Given the description of an element on the screen output the (x, y) to click on. 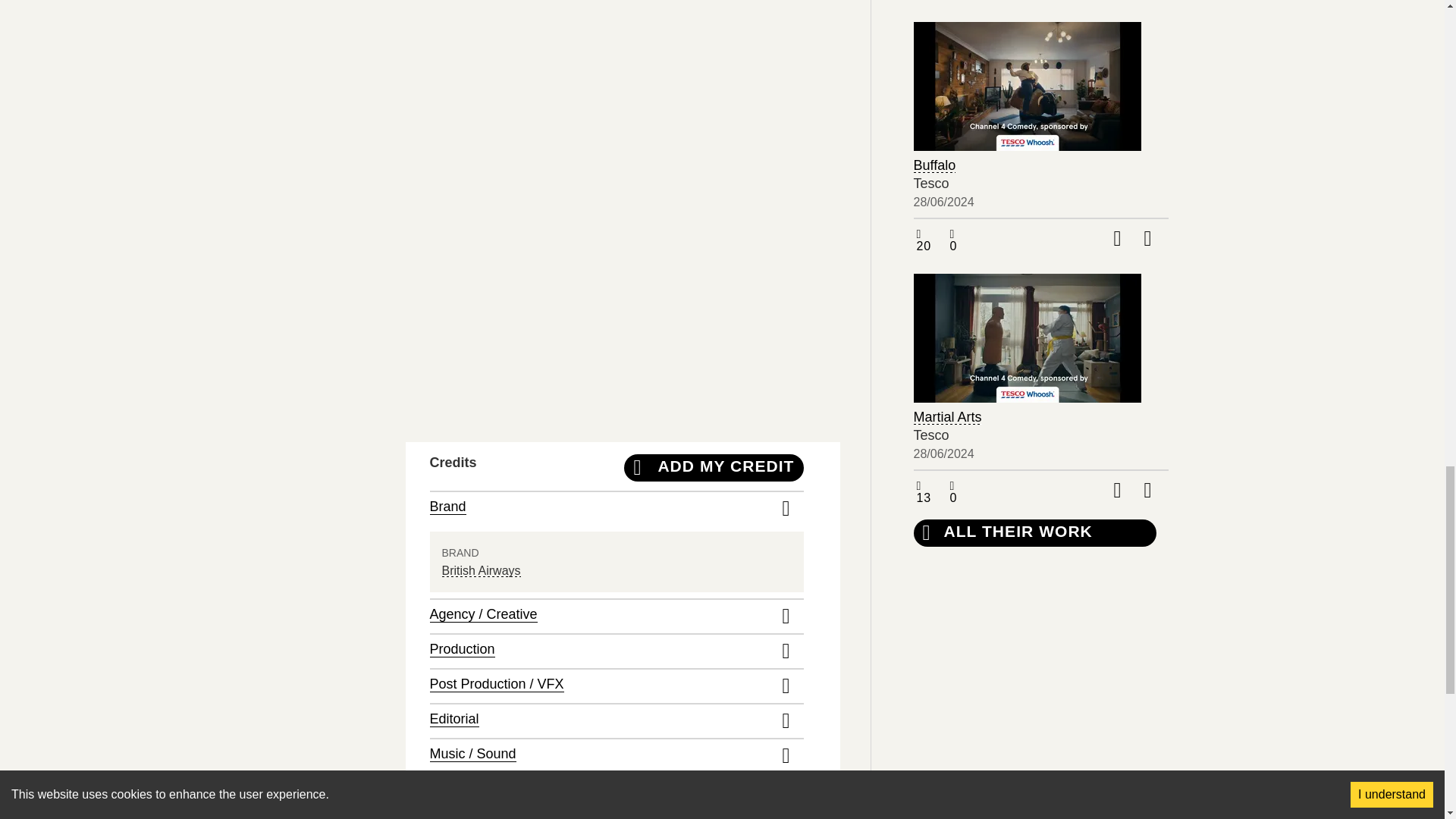
ADD MY CREDIT (713, 467)
British Airways (480, 570)
